Given the description of an element on the screen output the (x, y) to click on. 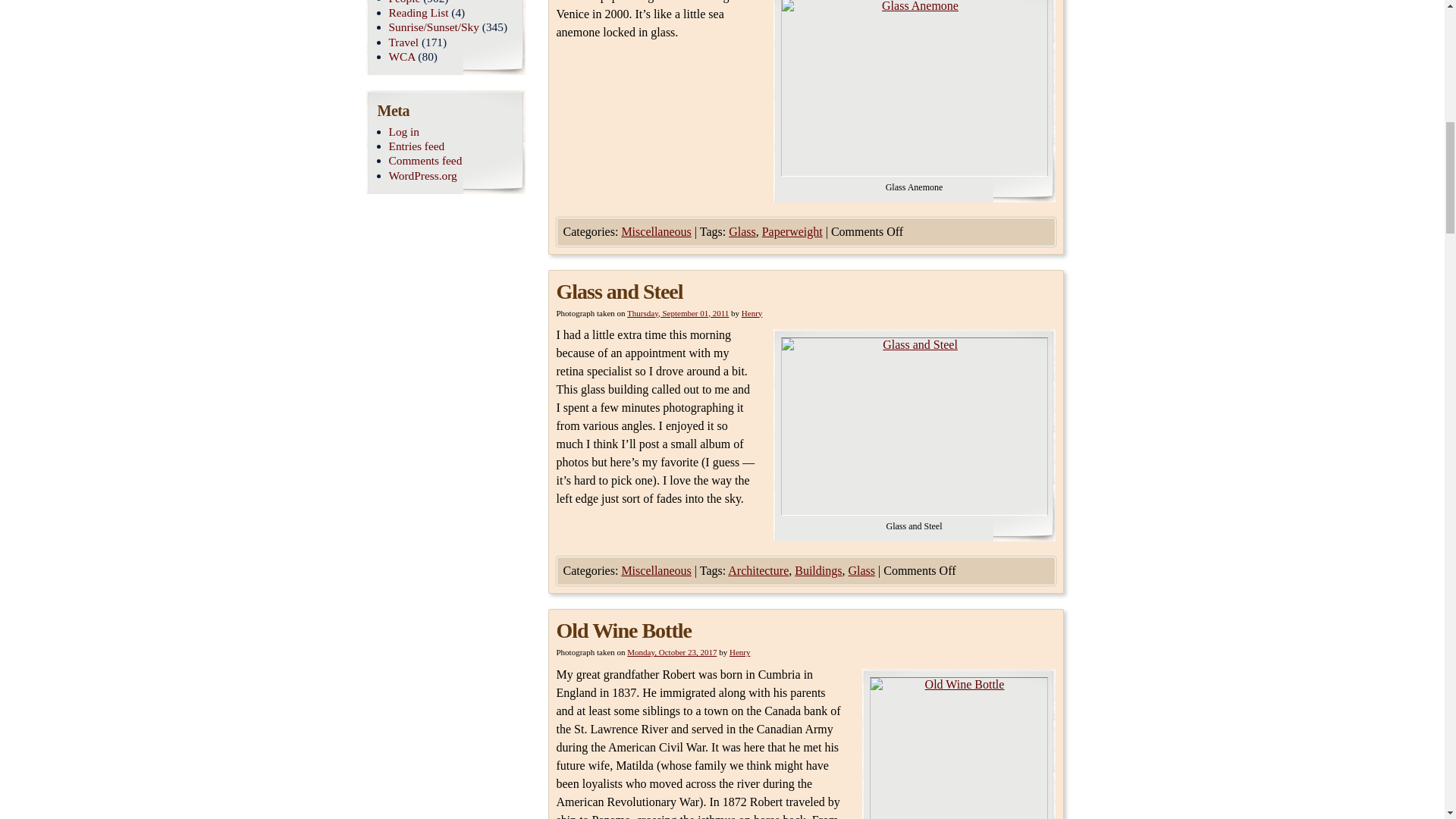
Henry (751, 311)
Henry (740, 651)
Architecture (758, 570)
Monday, October 23, 2017 (671, 651)
Miscellaneous (655, 570)
Permalink to Glass and Steel (619, 290)
Buildings (817, 570)
October 23, 2017 at 22:19 (671, 651)
September 1, 2011 at 09:08 (678, 311)
Glass (742, 230)
Paperweight (791, 230)
Permalink to Old Wine Bottle (623, 630)
View all posts by Henry (740, 651)
Old Wine Bottle (623, 630)
Miscellaneous (655, 230)
